Given the description of an element on the screen output the (x, y) to click on. 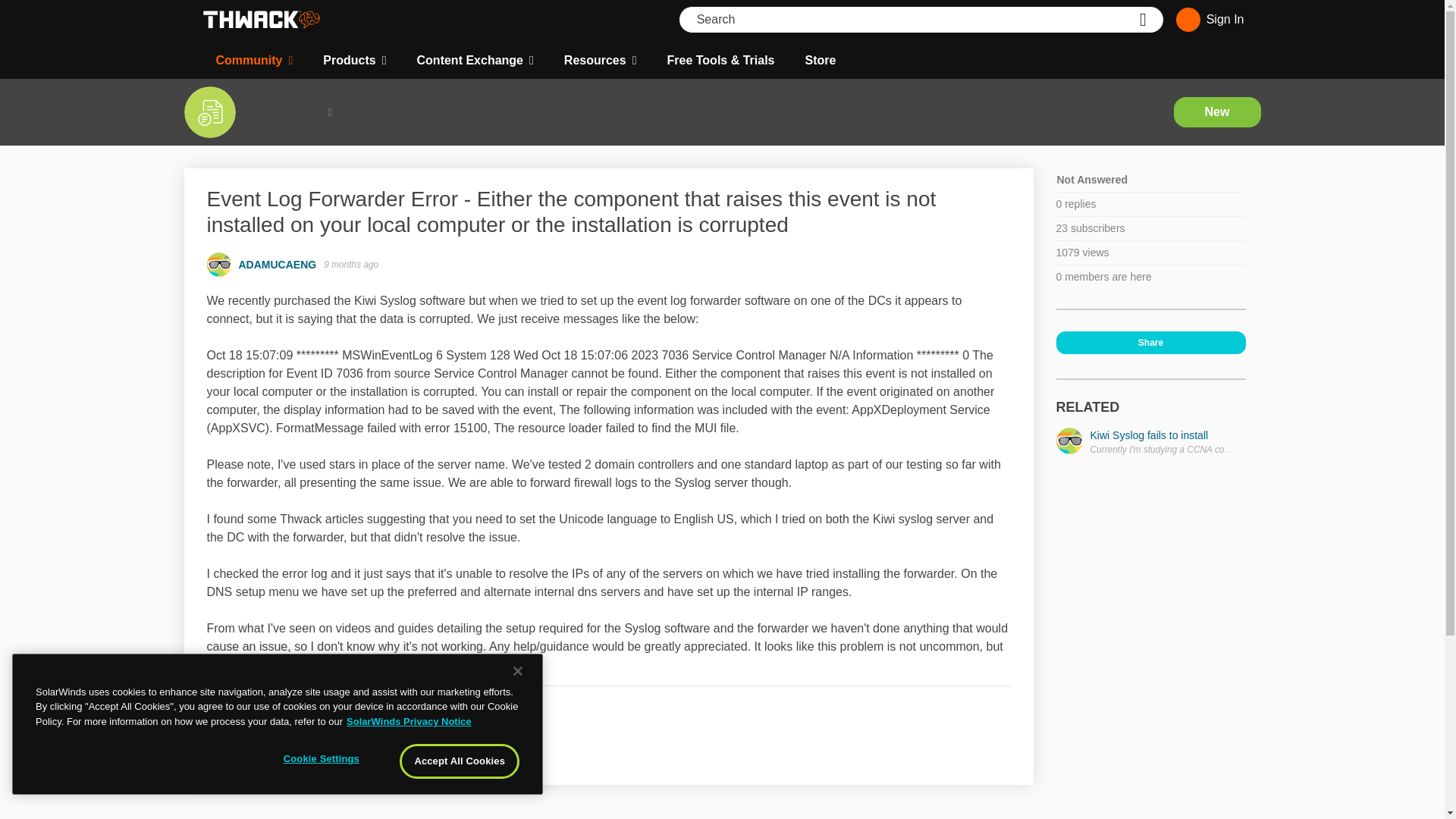
Products (354, 60)
Sign In (1207, 19)
Join or sign in (1207, 19)
Home (260, 19)
Community (253, 60)
